Given the description of an element on the screen output the (x, y) to click on. 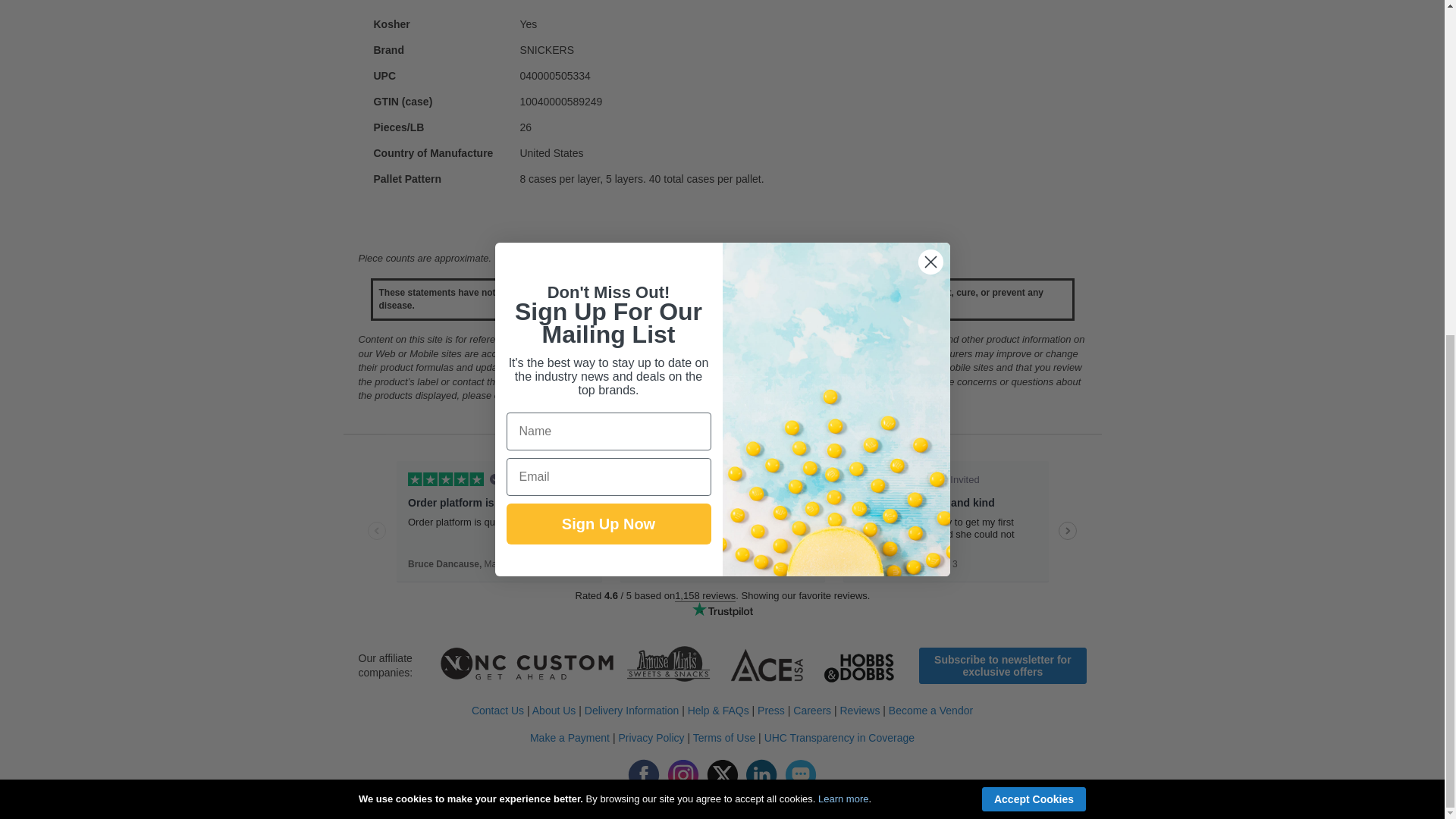
Learn more (842, 237)
Accept Cookies (1033, 238)
Customer reviews powered by Trustpilot (722, 544)
